Given the description of an element on the screen output the (x, y) to click on. 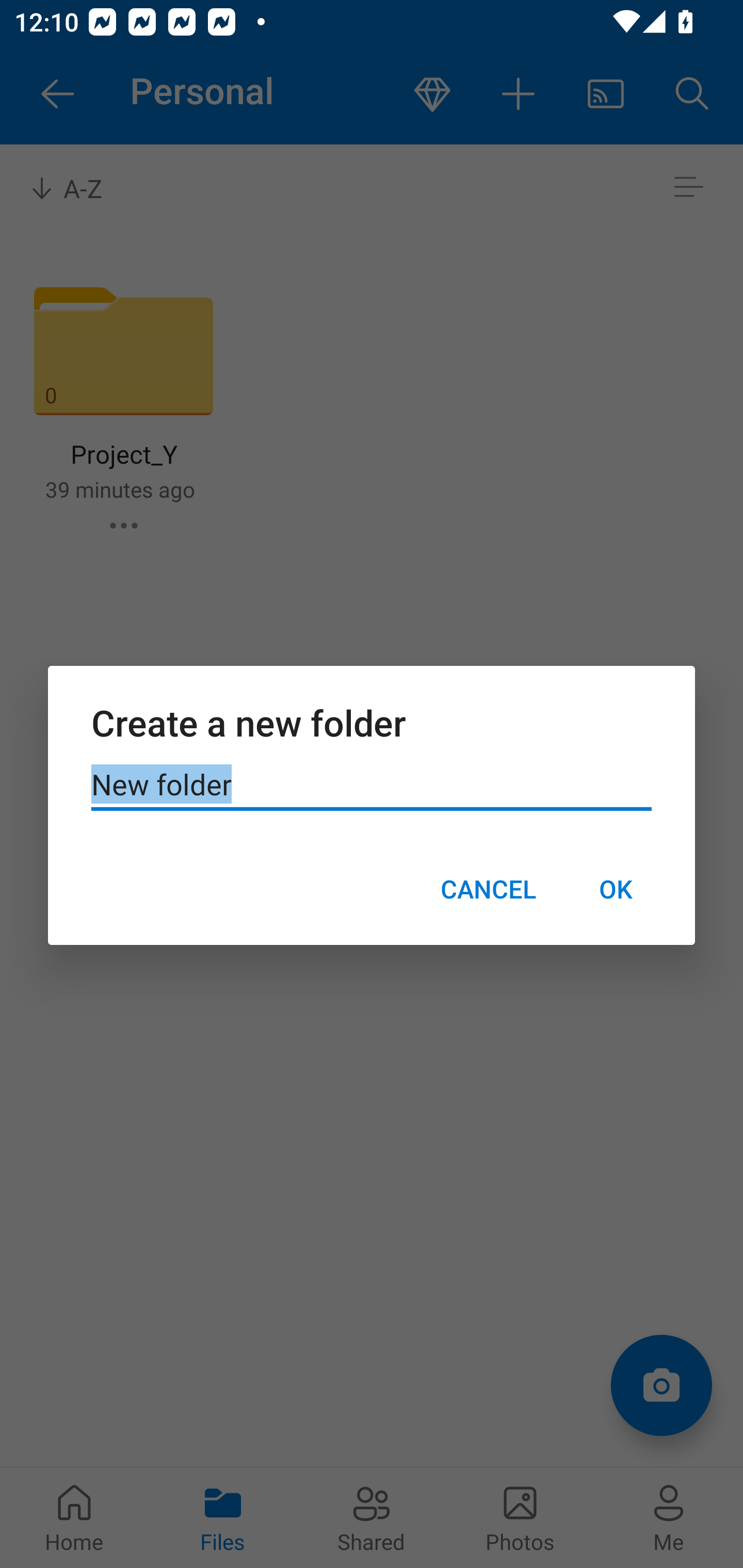
New folder (371, 784)
CANCEL (488, 888)
OK (615, 888)
